Given the description of an element on the screen output the (x, y) to click on. 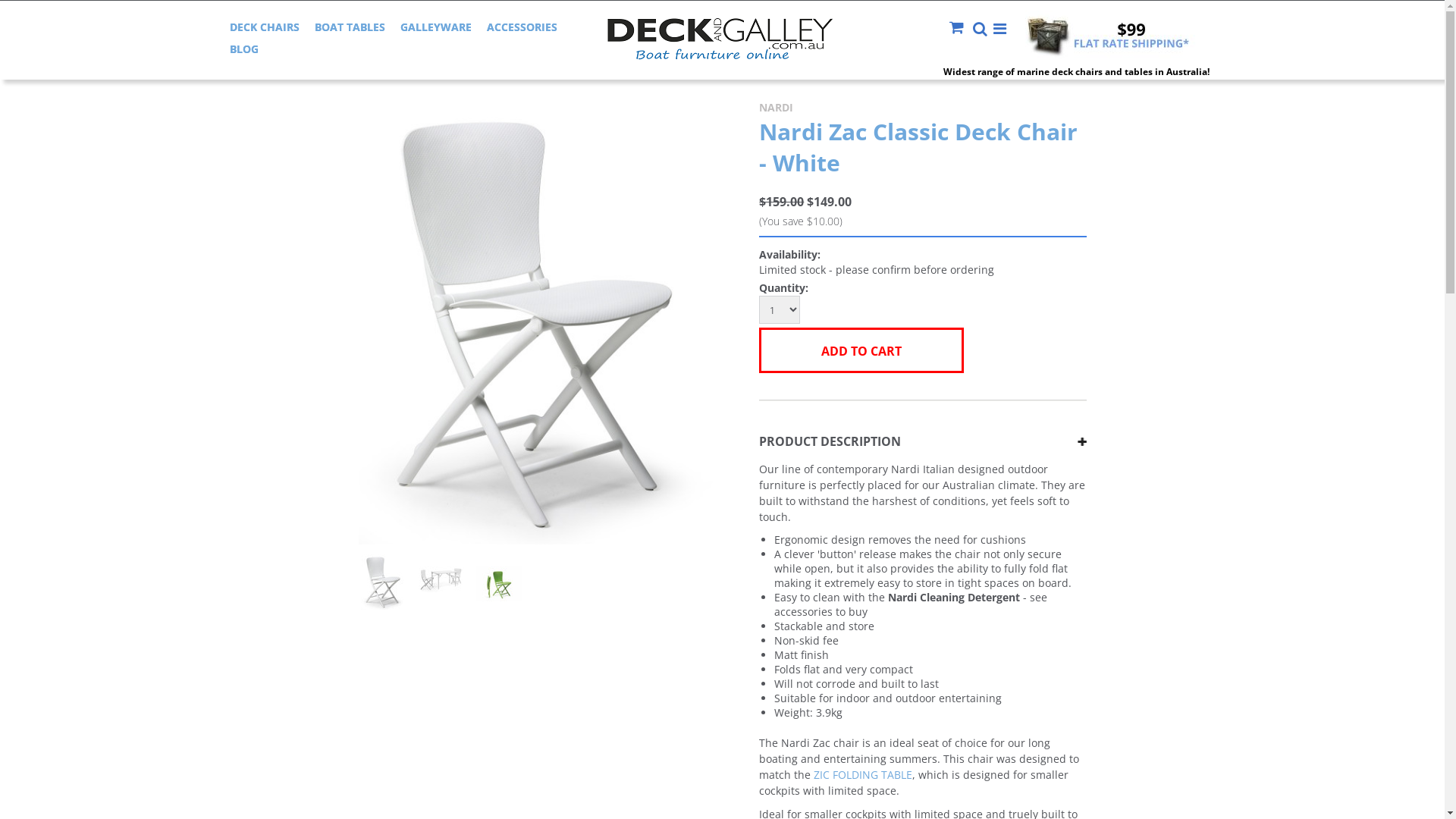
0 Element type: text (382, 585)
Image 1 Element type: hover (539, 322)
ZIC FOLDING TABLE Element type: text (862, 774)
0 Element type: text (498, 585)
BOAT TABLES Element type: text (348, 26)
View Cart Element type: hover (958, 27)
Home Element type: text (375, 71)
Deck Chairs Element type: text (432, 71)
Folds flat, securely locks into place.  Element type: hover (498, 577)
ACCESSORIES Element type: text (521, 26)
Add To Cart Element type: text (861, 350)
NARDI Element type: text (776, 107)
search Element type: hover (980, 30)
DECK CHAIRS Element type: text (263, 26)
Image 2 Element type: hover (441, 573)
BLOG Element type: text (243, 48)
Image 1 Element type: hover (383, 581)
View Cart Element type: hover (959, 28)
GALLEYWARE Element type: text (435, 26)
  Element type: text (959, 28)
0 Element type: text (440, 585)
More Element type: hover (1000, 28)
